Given the description of an element on the screen output the (x, y) to click on. 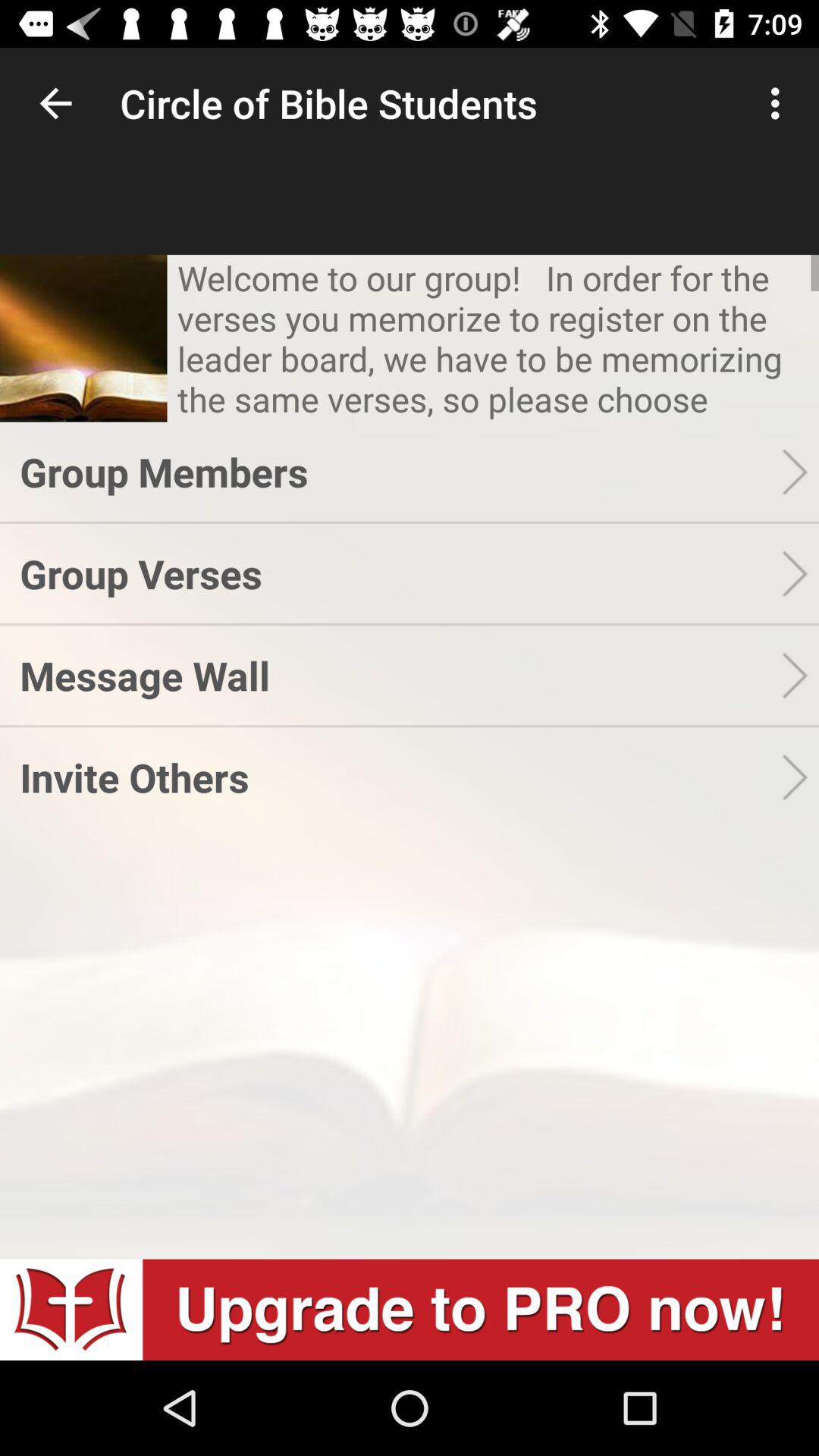
select the app below the group verses (399, 675)
